Given the description of an element on the screen output the (x, y) to click on. 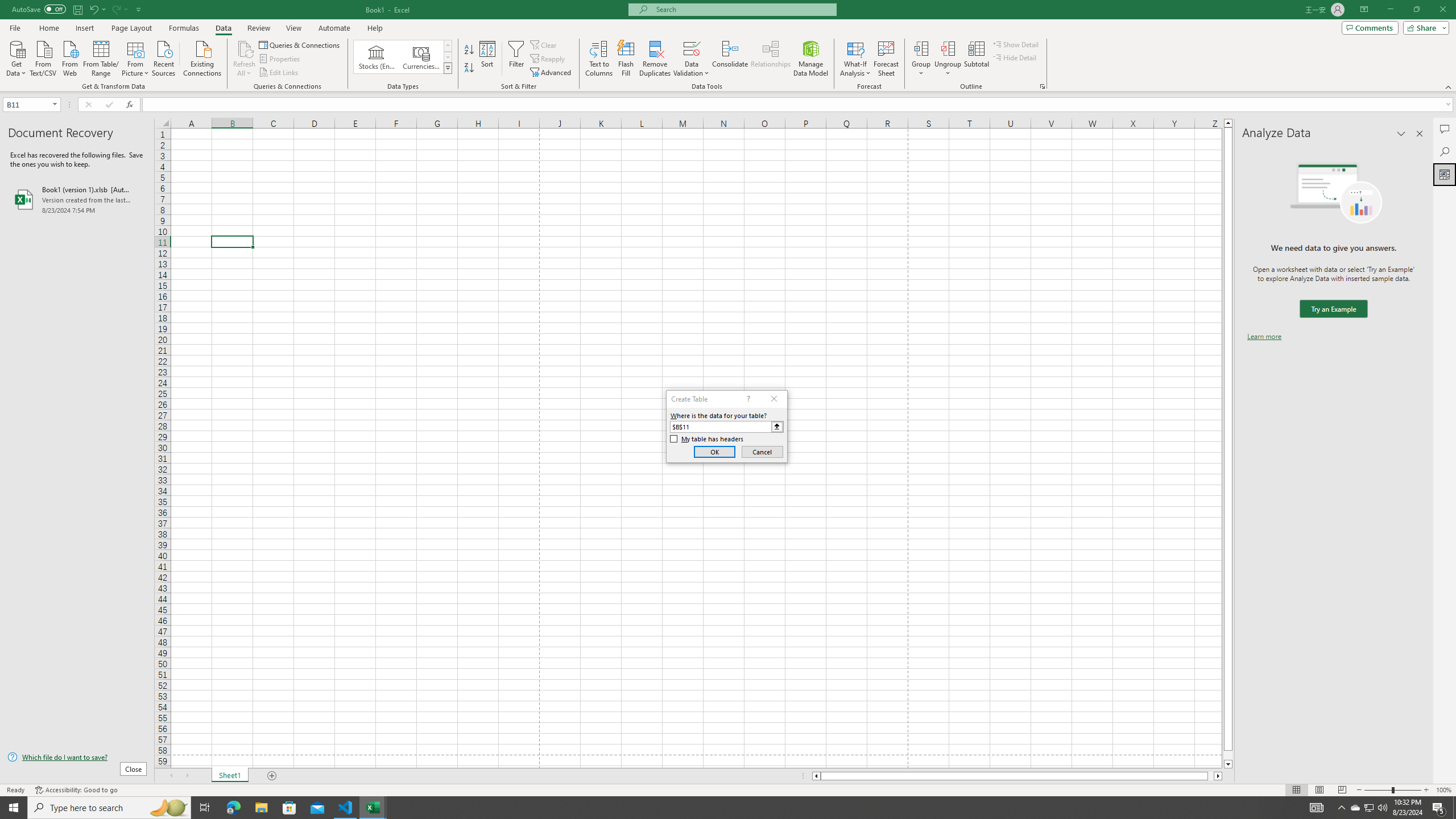
Close pane (1419, 133)
We need data to give you answers. Try an Example (1333, 308)
From Web (69, 57)
Stocks (English) (375, 56)
Data Types (448, 67)
Consolidate... (729, 58)
Subtotal (976, 58)
